Given the description of an element on the screen output the (x, y) to click on. 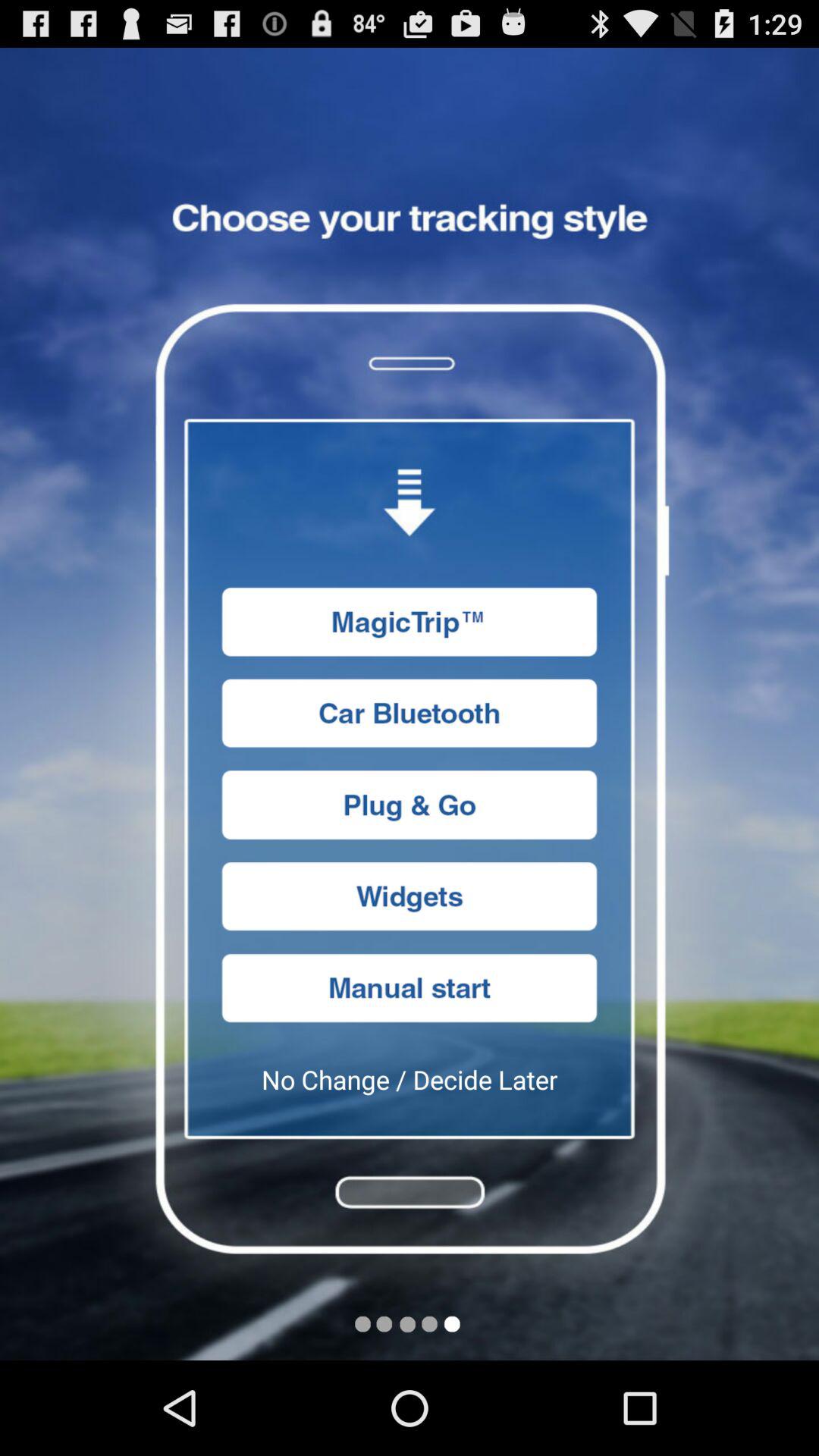
open car bluetooth (409, 713)
